Given the description of an element on the screen output the (x, y) to click on. 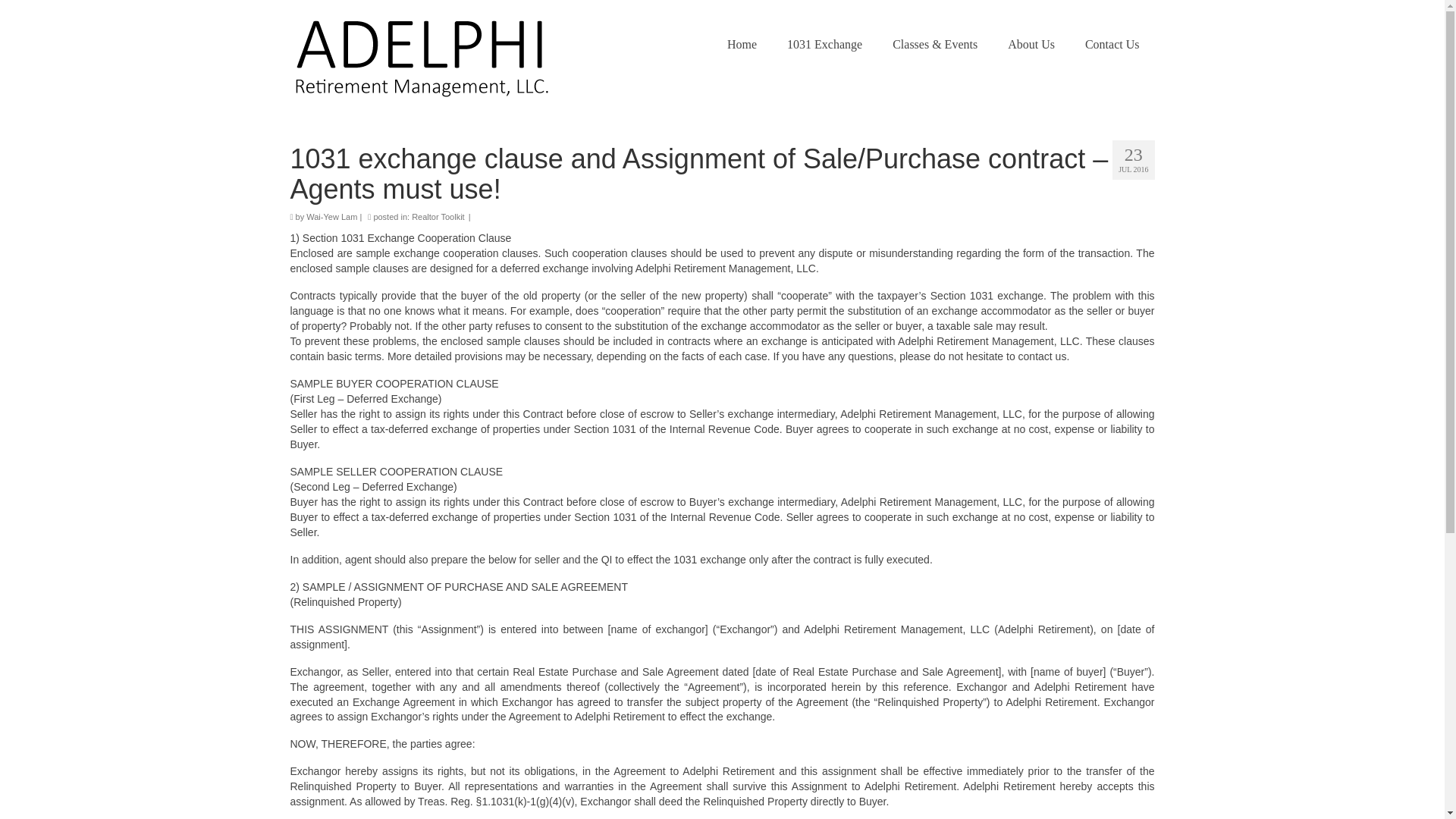
Realtor Toolkit (438, 216)
Contact Us (1112, 44)
Wai-Yew Lam (330, 216)
About Us (1031, 44)
Welcome to Adelphi Retirement Management, LLC (741, 44)
1031 Exchange (824, 44)
Adelphi Retirement  Management, LLC (428, 52)
Home (741, 44)
